Given the description of an element on the screen output the (x, y) to click on. 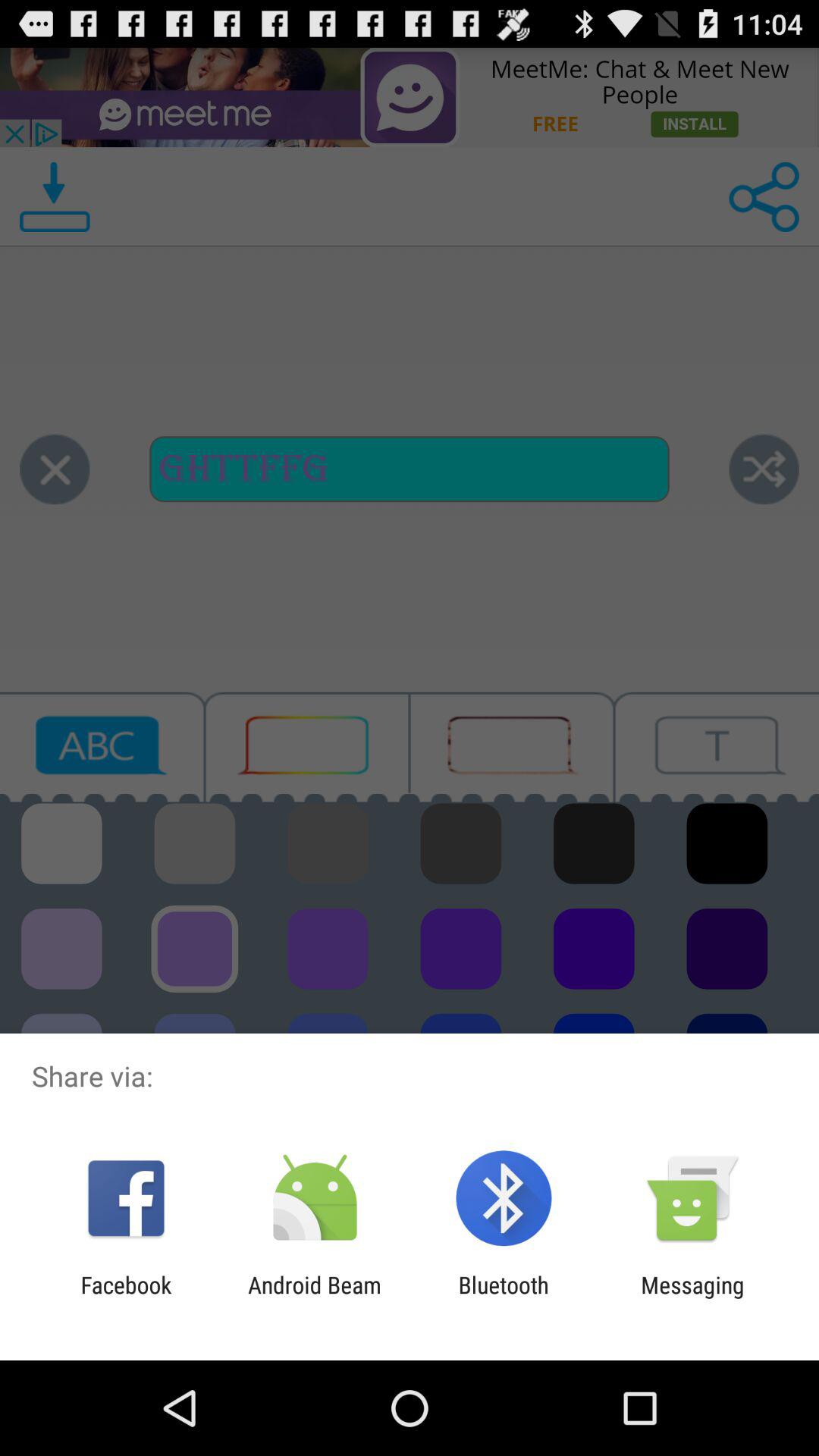
choose the app next to the messaging item (503, 1298)
